Given the description of an element on the screen output the (x, y) to click on. 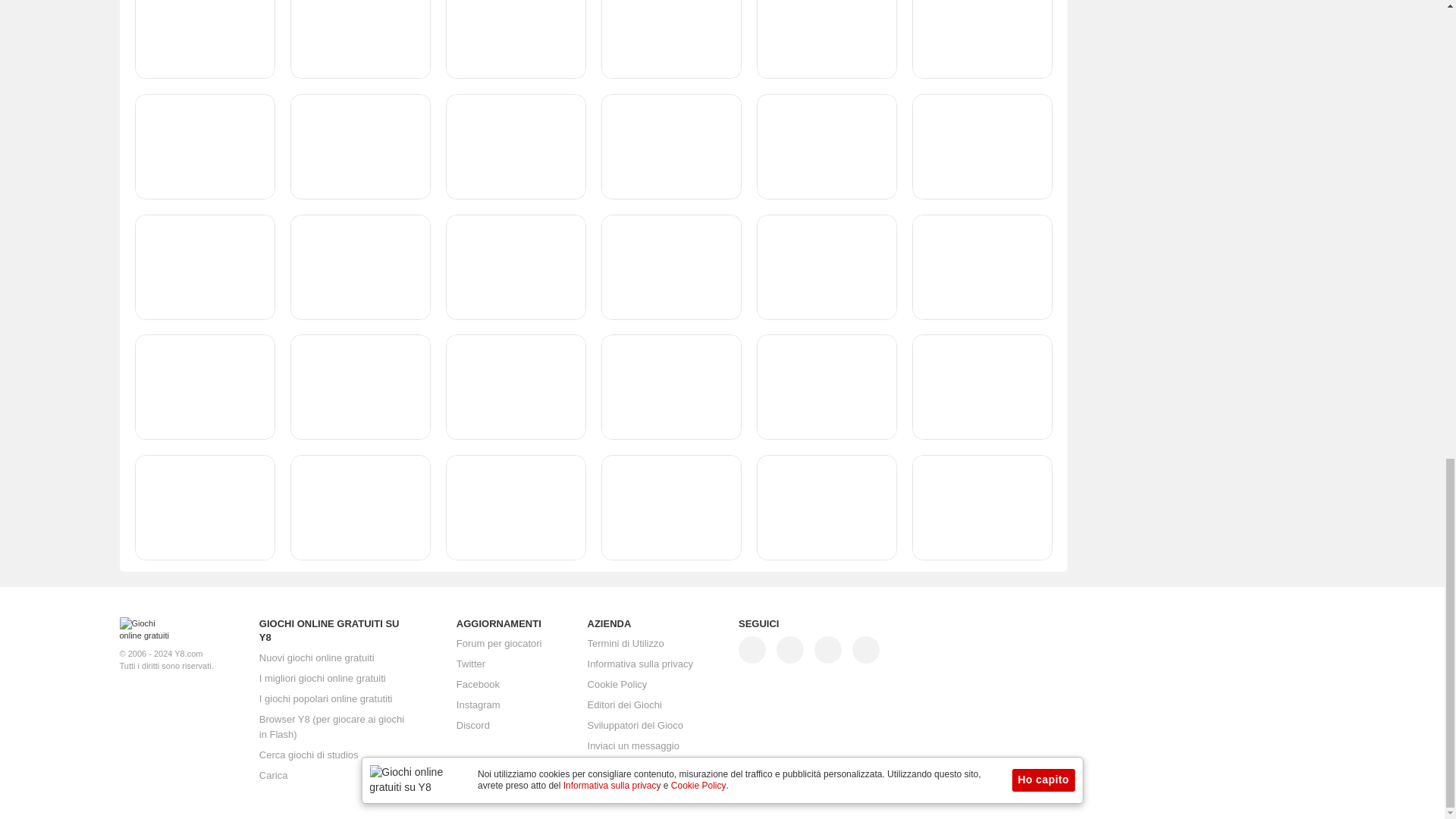
Informativa sulla privacy (640, 664)
Sii il primo a giocare ai nuovi giochi online gratuiti! (316, 657)
Cookie Policy (617, 684)
Termini di Utilizzo (625, 644)
